Given the description of an element on the screen output the (x, y) to click on. 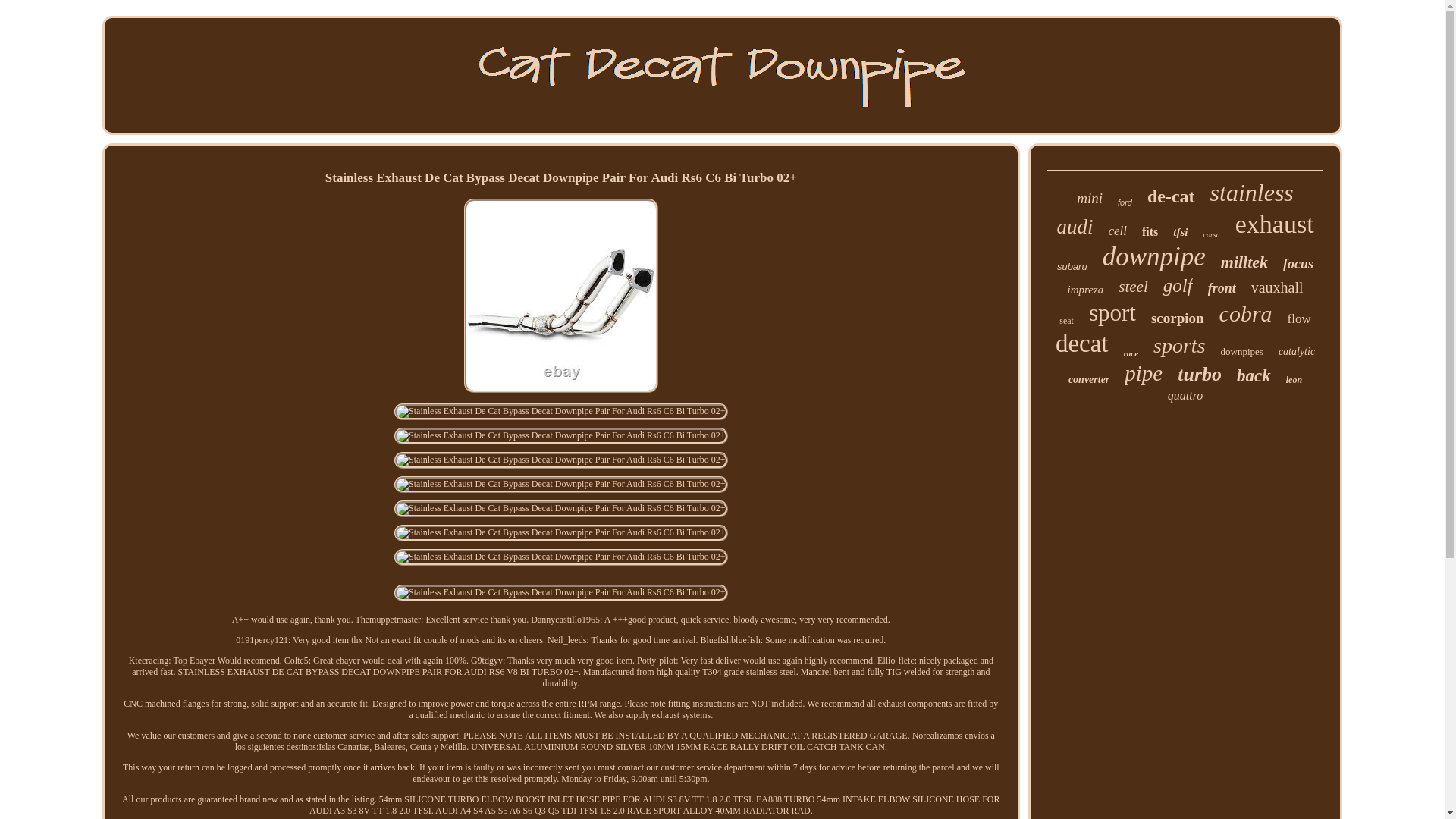
de-cat (1171, 196)
stainless (1251, 193)
sport (1112, 312)
subaru (1072, 266)
sports (1179, 345)
decat (1081, 343)
impreza (1085, 289)
race (1131, 352)
tfsi (1180, 232)
golf (1177, 285)
